Given the description of an element on the screen output the (x, y) to click on. 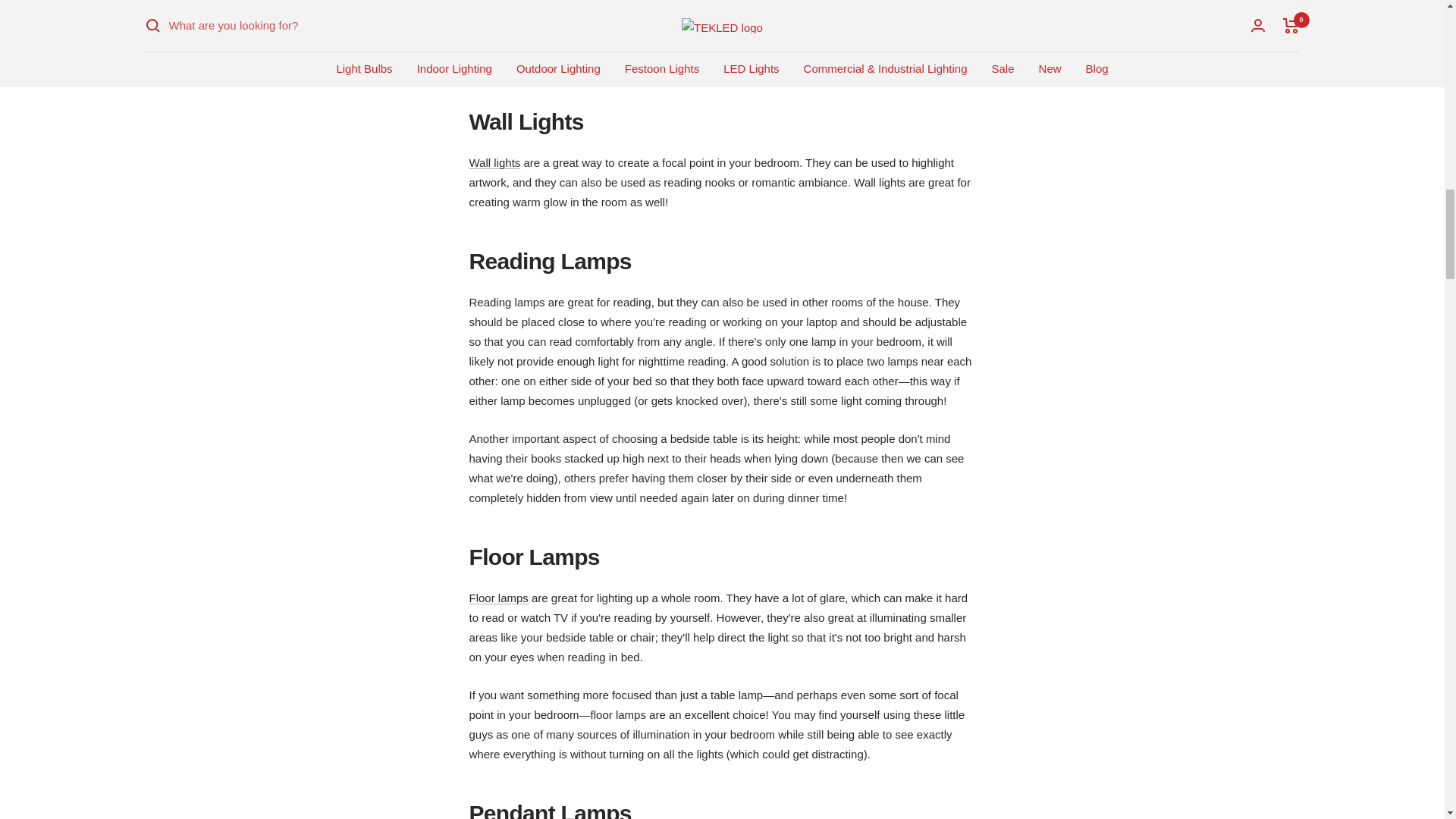
Wall lights (493, 162)
TEKLED Wall Light Fixtures (493, 162)
Floor lamps (497, 597)
Floor lamps (497, 597)
